Given the description of an element on the screen output the (x, y) to click on. 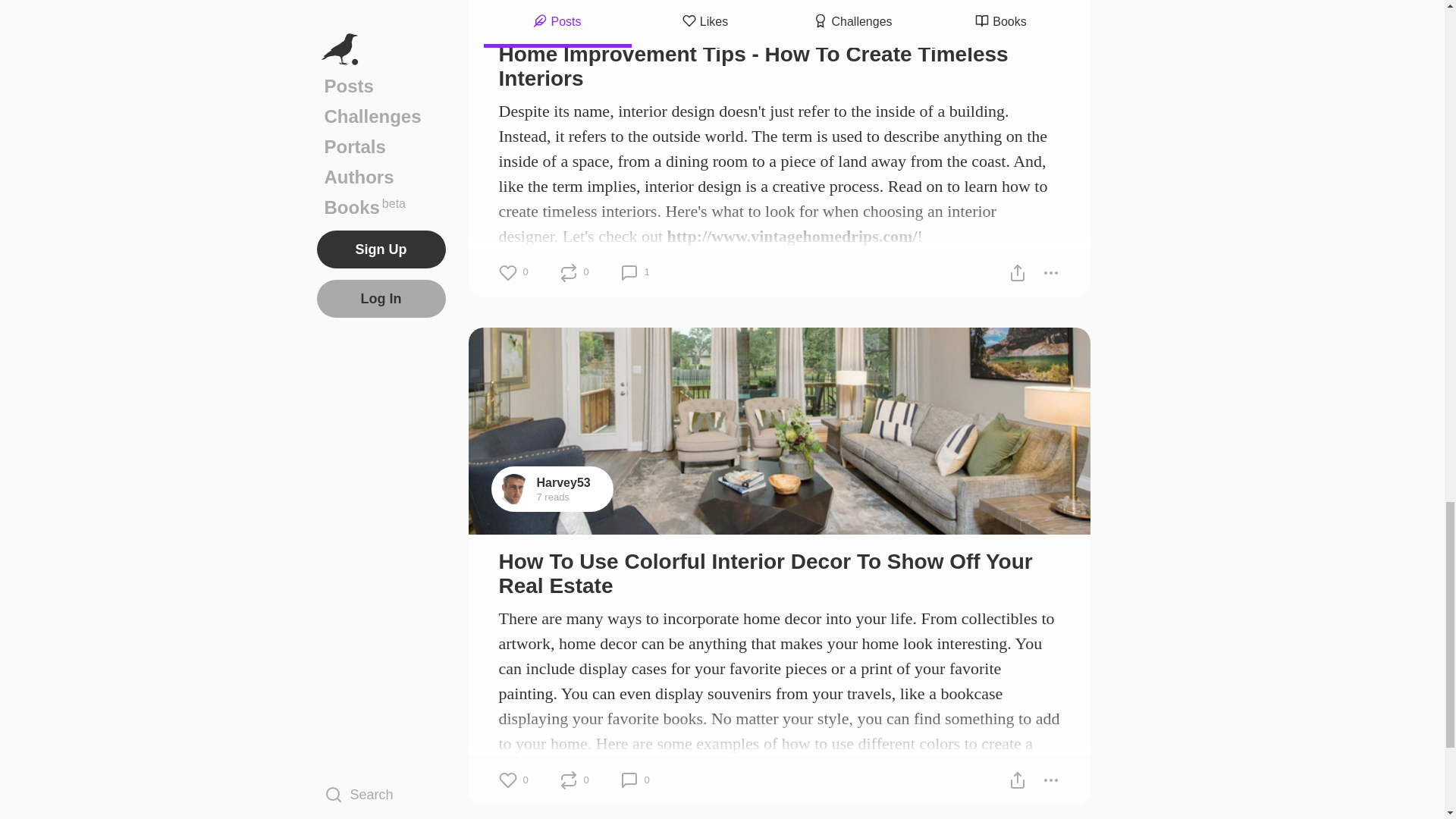
Harvey53 (564, 481)
